Given the description of an element on the screen output the (x, y) to click on. 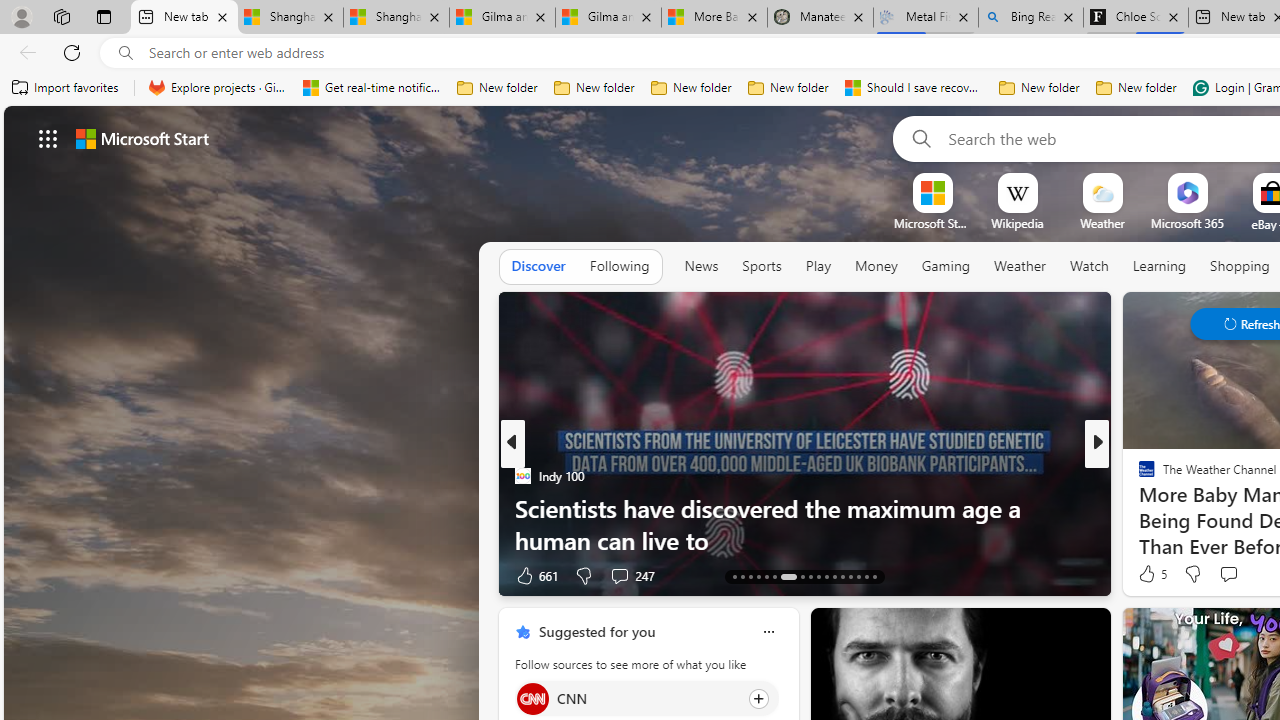
View comments 5 Comment (1234, 575)
BuzzFeed (1138, 475)
16 Like (1149, 574)
Click to follow source CNN (646, 698)
AutomationID: tab-21 (810, 576)
AutomationID: tab-25 (842, 576)
Manatee Mortality Statistics | FWC (820, 17)
How to Survive (1138, 507)
Chloe Sorvino (1135, 17)
